Given the description of an element on the screen output the (x, y) to click on. 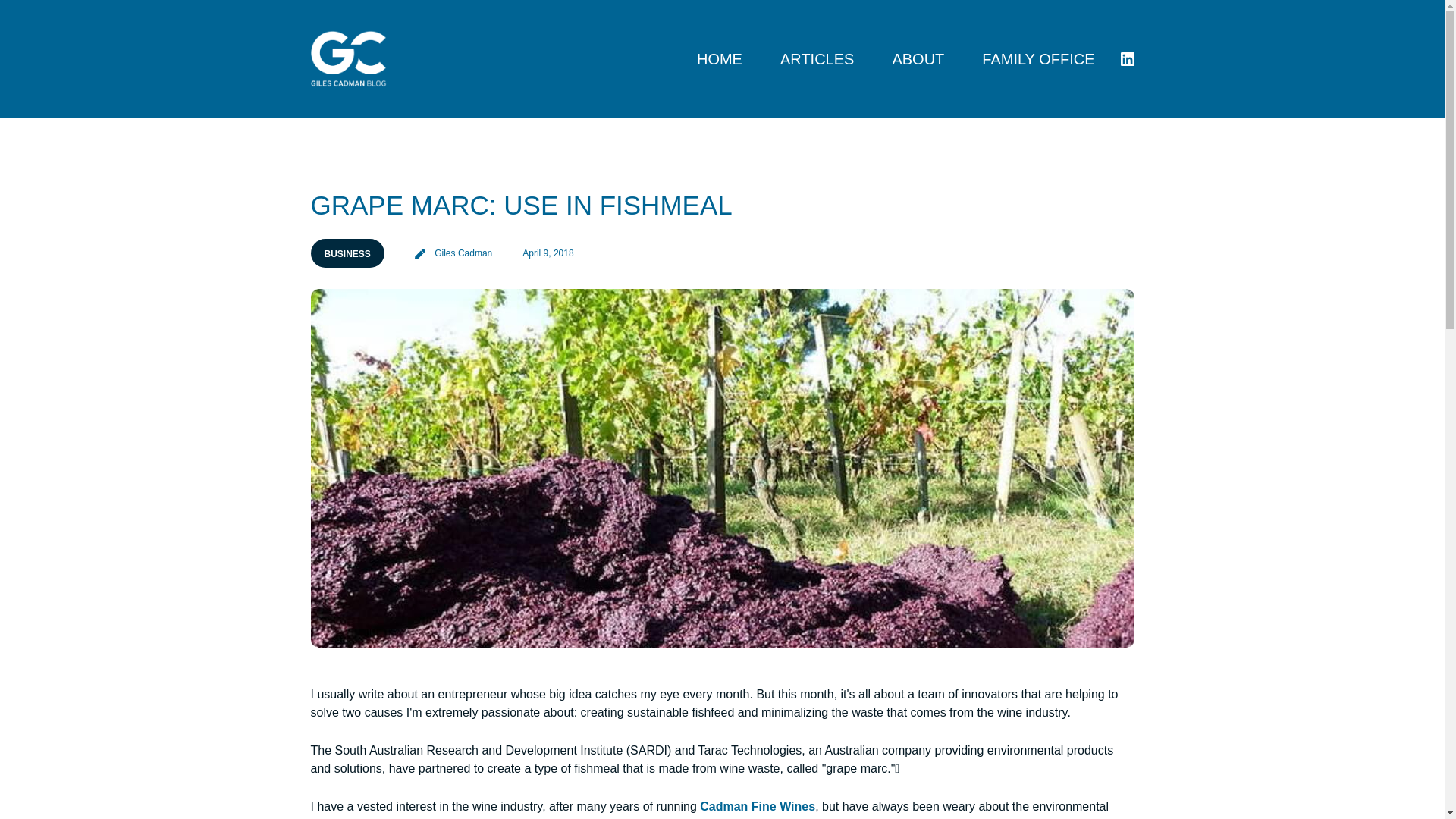
FAMILY OFFICE (1037, 58)
ABOUT (917, 58)
BUSINESS (347, 253)
Giles Cadman (453, 253)
HOME (719, 58)
ARTICLES (807, 58)
Cadman Fine Wines (816, 58)
